Given the description of an element on the screen output the (x, y) to click on. 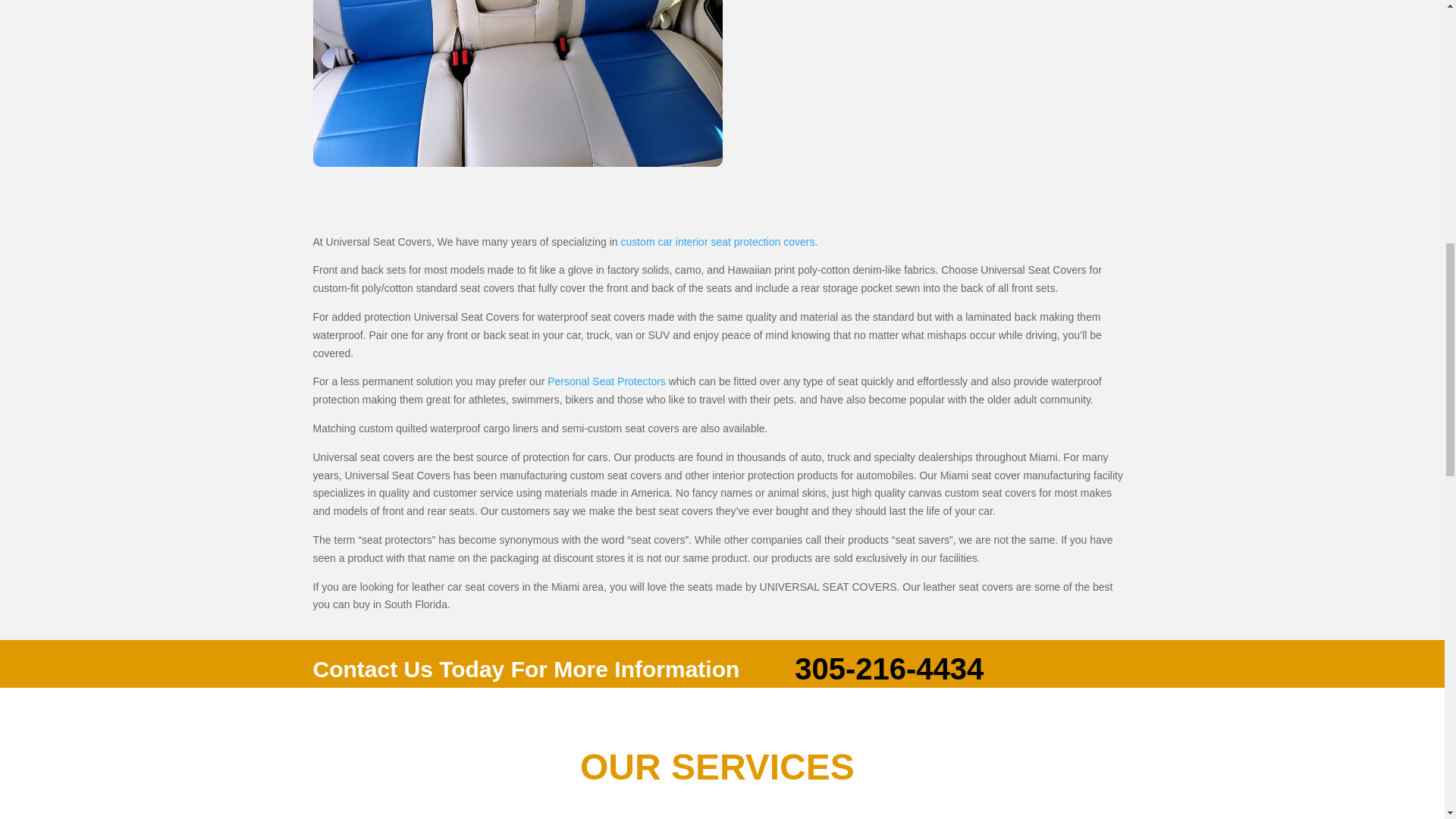
custom car interior seat protection covers. (718, 241)
305-216-4434 (889, 668)
Personal Seat Protectors (606, 381)
usc04 (517, 83)
